Given the description of an element on the screen output the (x, y) to click on. 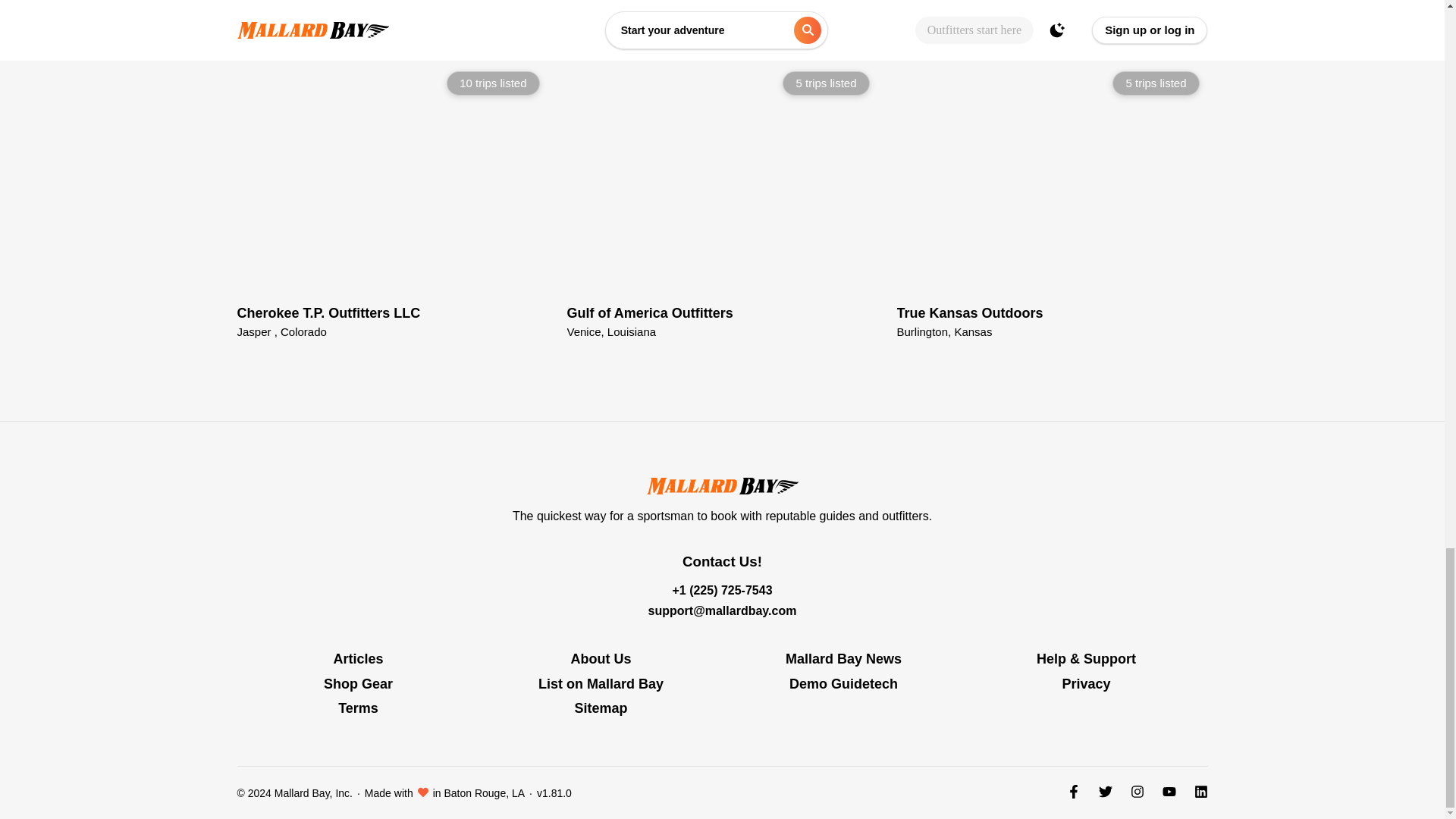
About Us (600, 658)
Mallard Bay News (843, 658)
Shop Gear (357, 679)
Demo Guidetech (1052, 200)
Left (723, 200)
List on Mallard Bay (842, 679)
Articles (1160, 29)
Right (600, 679)
Privacy (357, 658)
Terms (1194, 29)
